Given the description of an element on the screen output the (x, y) to click on. 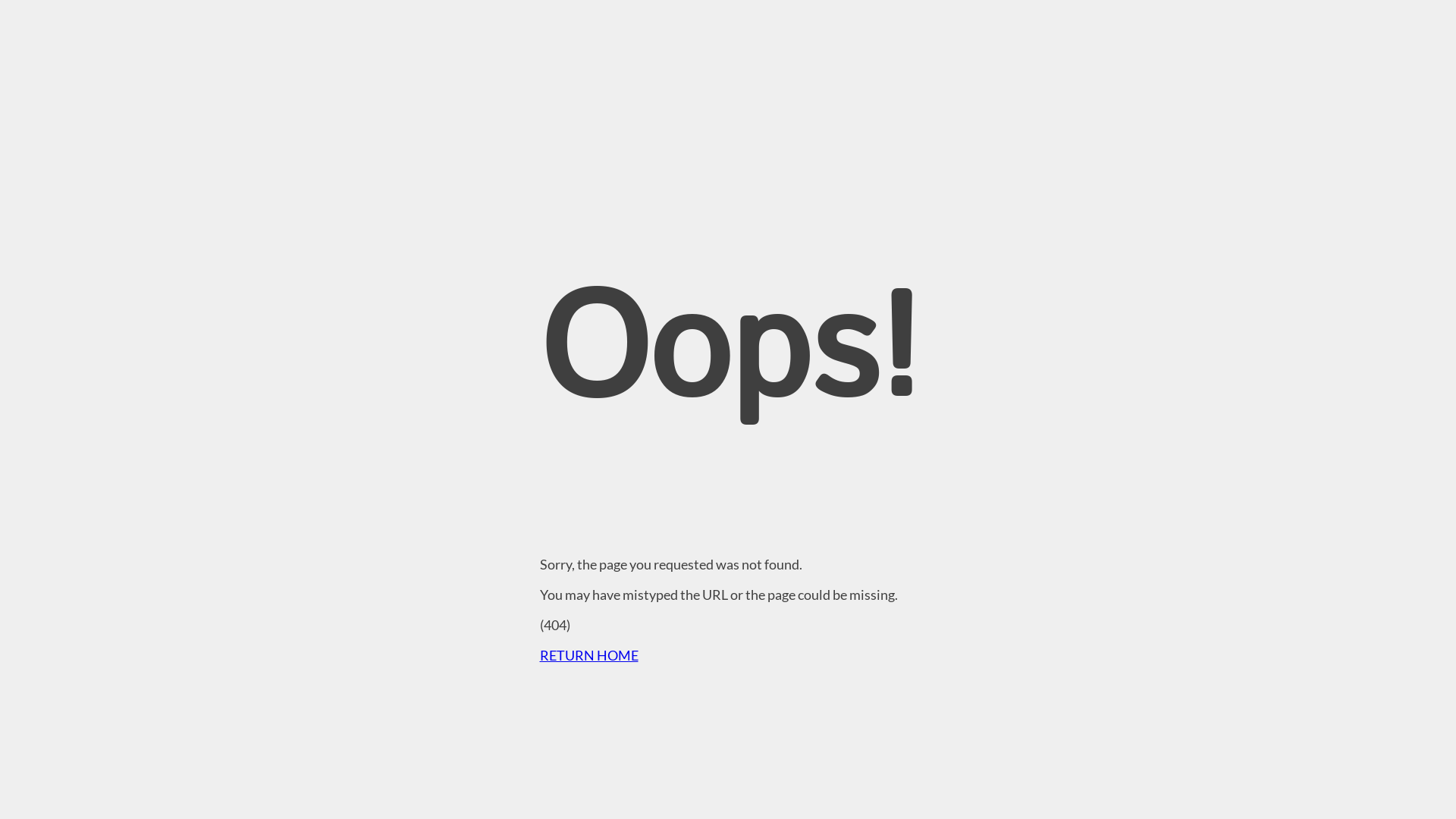
RETURN HOME Element type: text (588, 654)
